Given the description of an element on the screen output the (x, y) to click on. 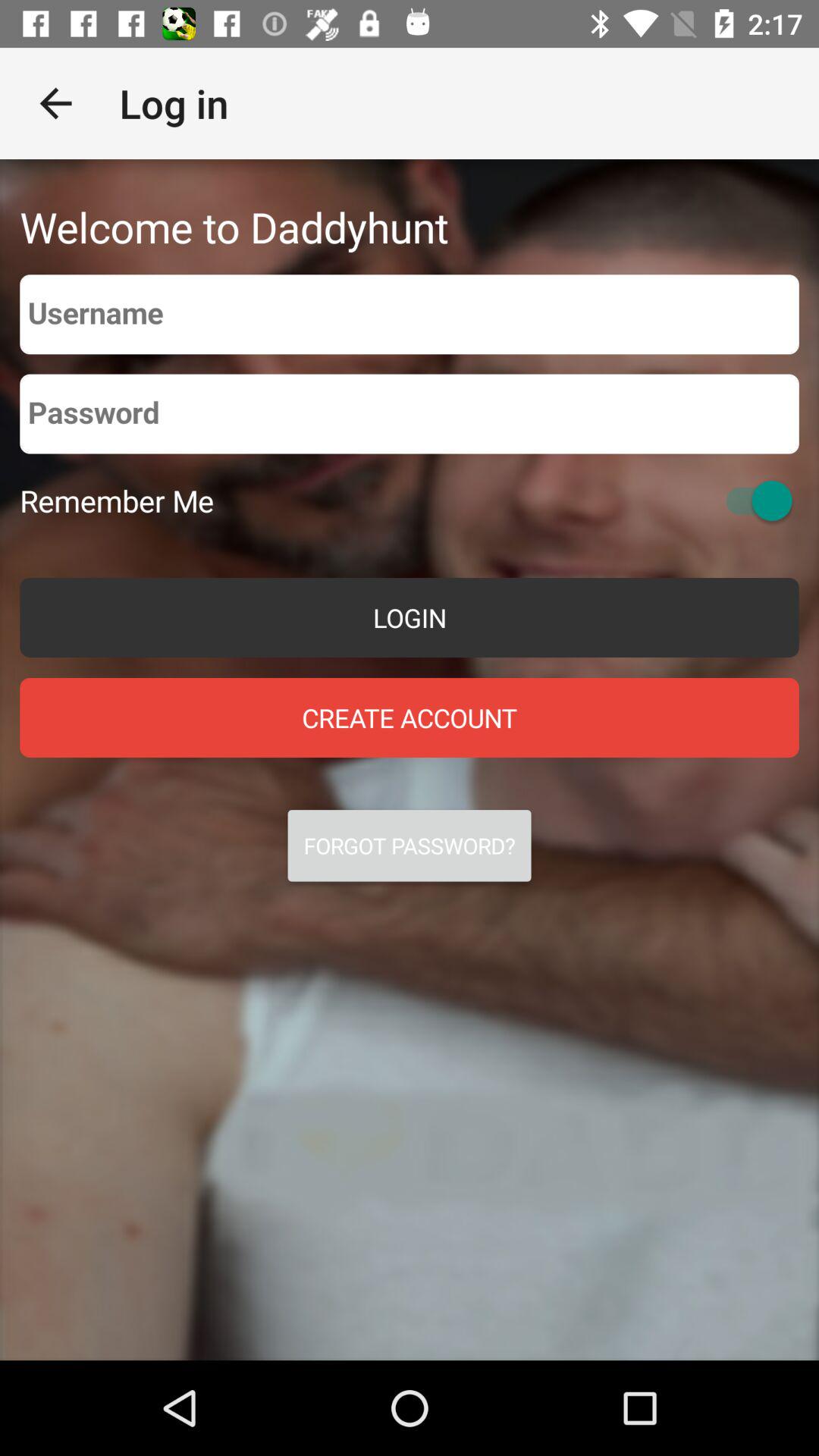
turn off the item above create account item (409, 617)
